Given the description of an element on the screen output the (x, y) to click on. 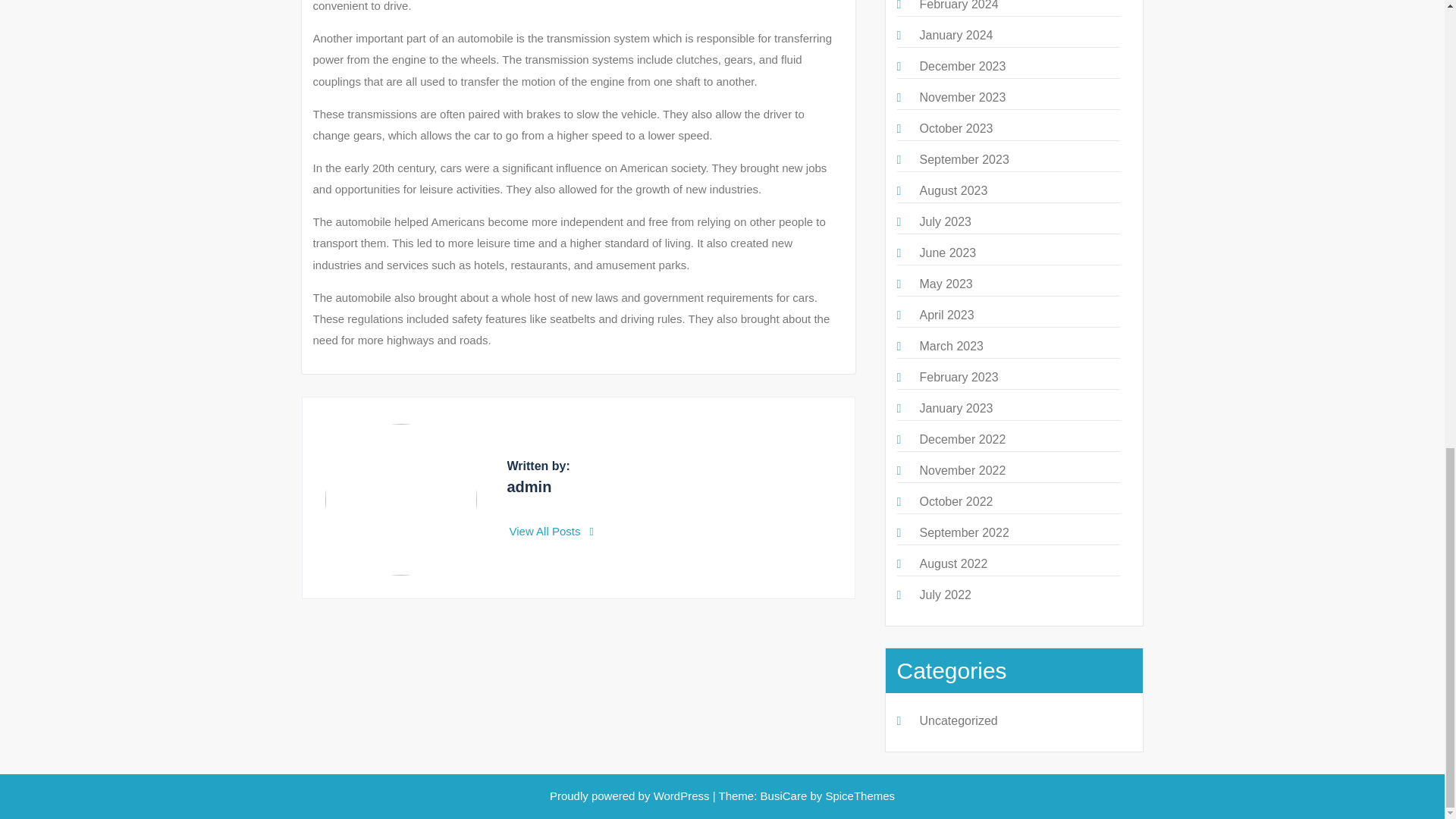
August 2023 (952, 190)
November 2022 (962, 470)
September 2022 (963, 532)
WordPress (681, 795)
August 2022 (952, 563)
July 2022 (944, 594)
December 2022 (962, 439)
May 2023 (945, 283)
February 2023 (957, 377)
Uncategorized (957, 720)
View All Posts (551, 530)
September 2023 (963, 159)
March 2023 (951, 345)
July 2023 (944, 221)
December 2023 (962, 65)
